Given the description of an element on the screen output the (x, y) to click on. 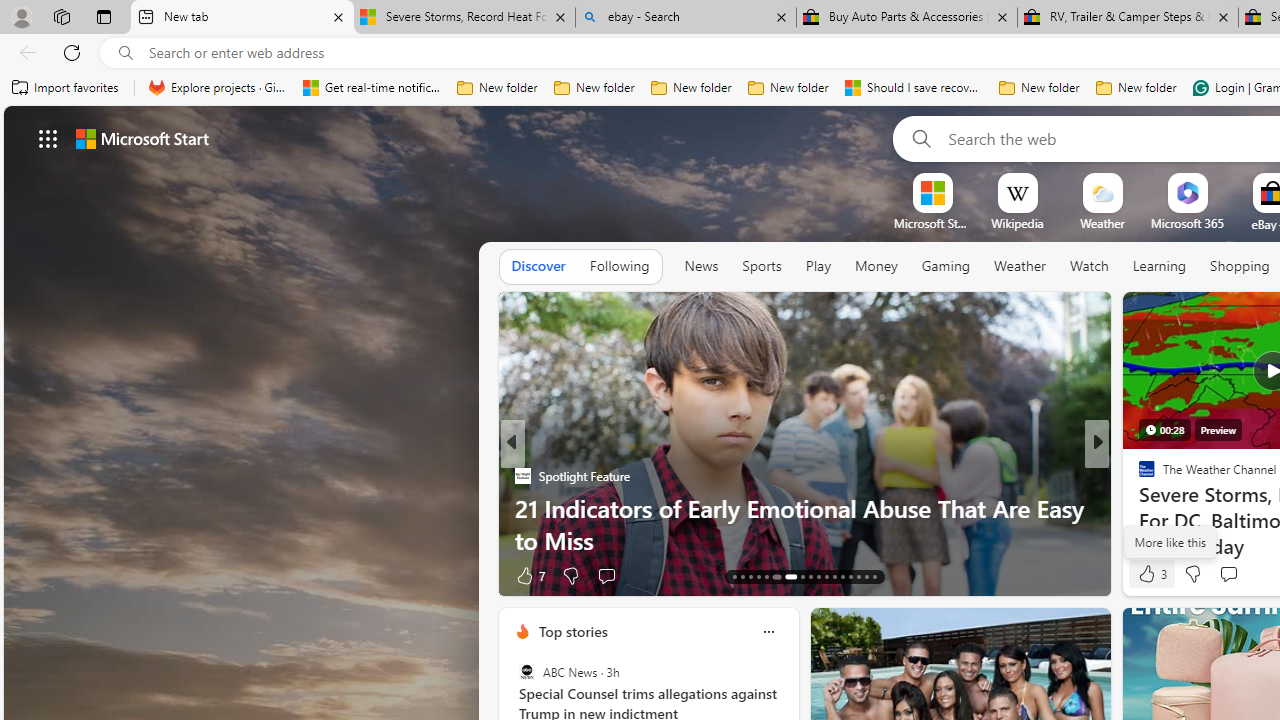
AutomationID: tab-21 (810, 576)
116 Like (1151, 574)
AutomationID: tab-18 (774, 576)
AutomationID: tab-29 (874, 576)
MUO (1138, 507)
Spotlight Feature (522, 475)
AutomationID: tab-23 (825, 576)
Import favorites (65, 88)
AutomationID: tab-28 (865, 576)
New folder (1136, 88)
